Given the description of an element on the screen output the (x, y) to click on. 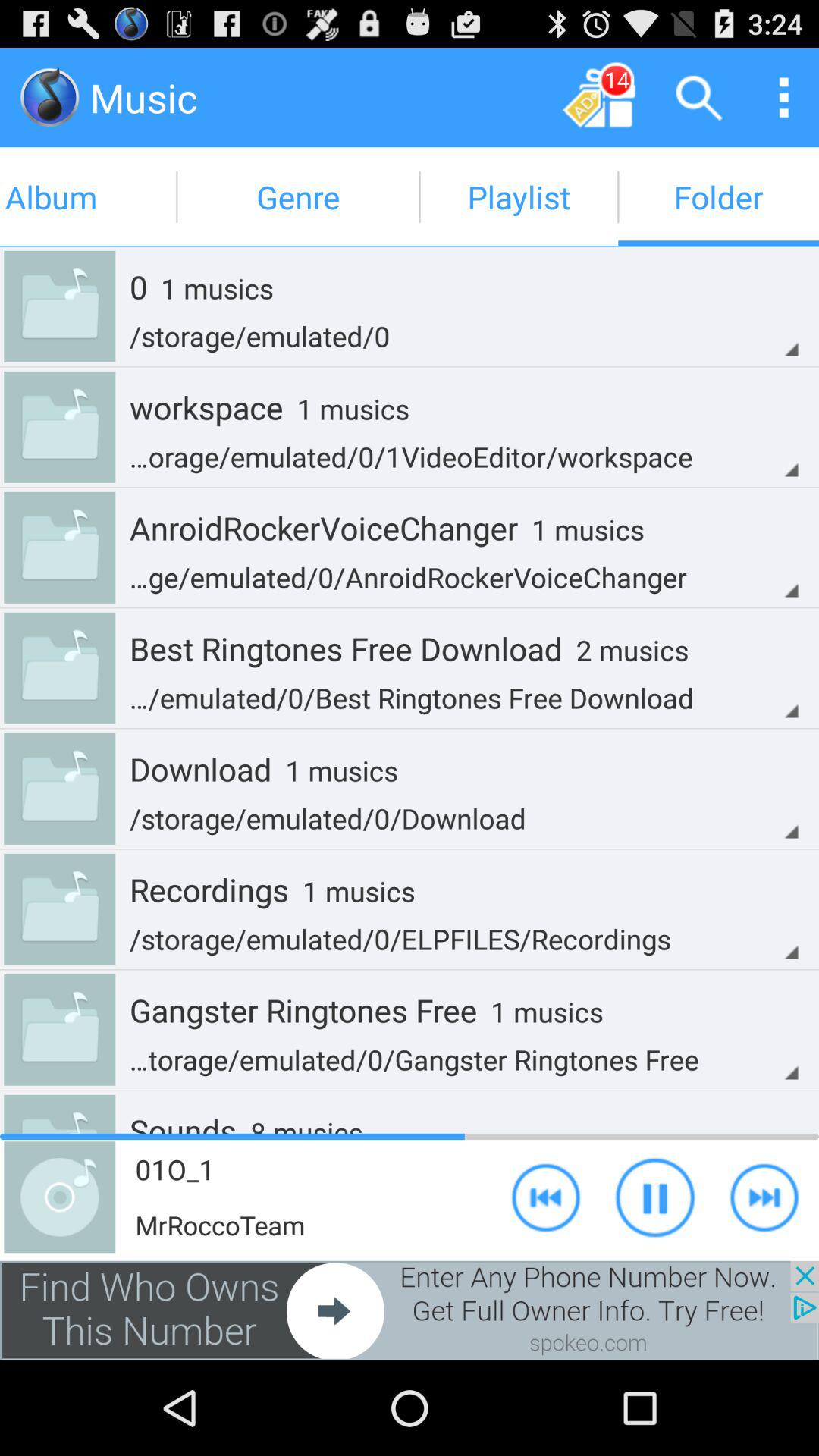
play previous track (545, 1196)
